Given the description of an element on the screen output the (x, y) to click on. 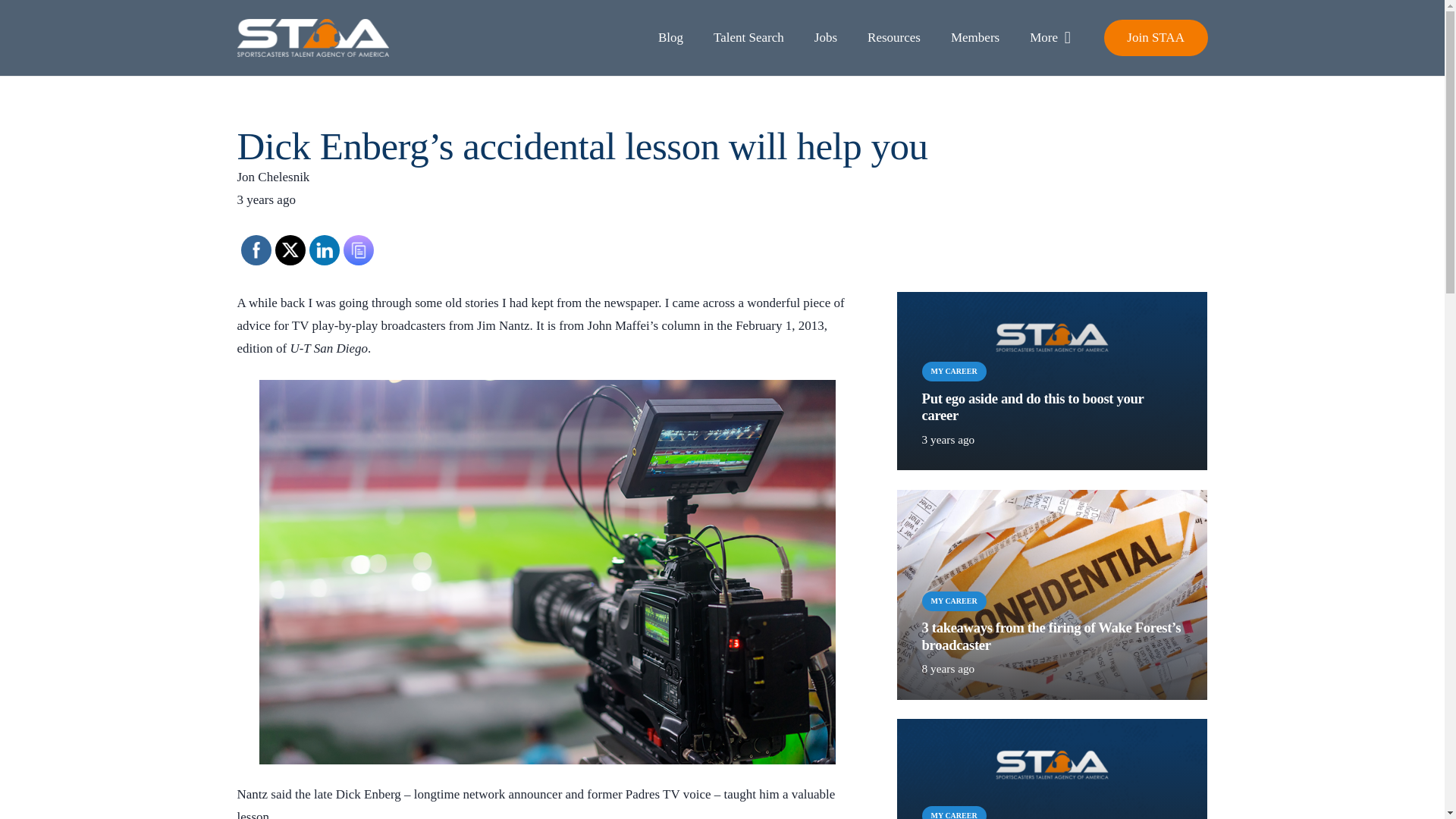
Put ego aside and do this to boost your career (1031, 406)
Copy link (358, 248)
MY CAREER (954, 600)
Facebook (255, 248)
More (1050, 38)
LinkedIn (323, 248)
Members (975, 38)
Jon Chelesnik (721, 177)
Resources (893, 38)
MY CAREER (954, 371)
